Given the description of an element on the screen output the (x, y) to click on. 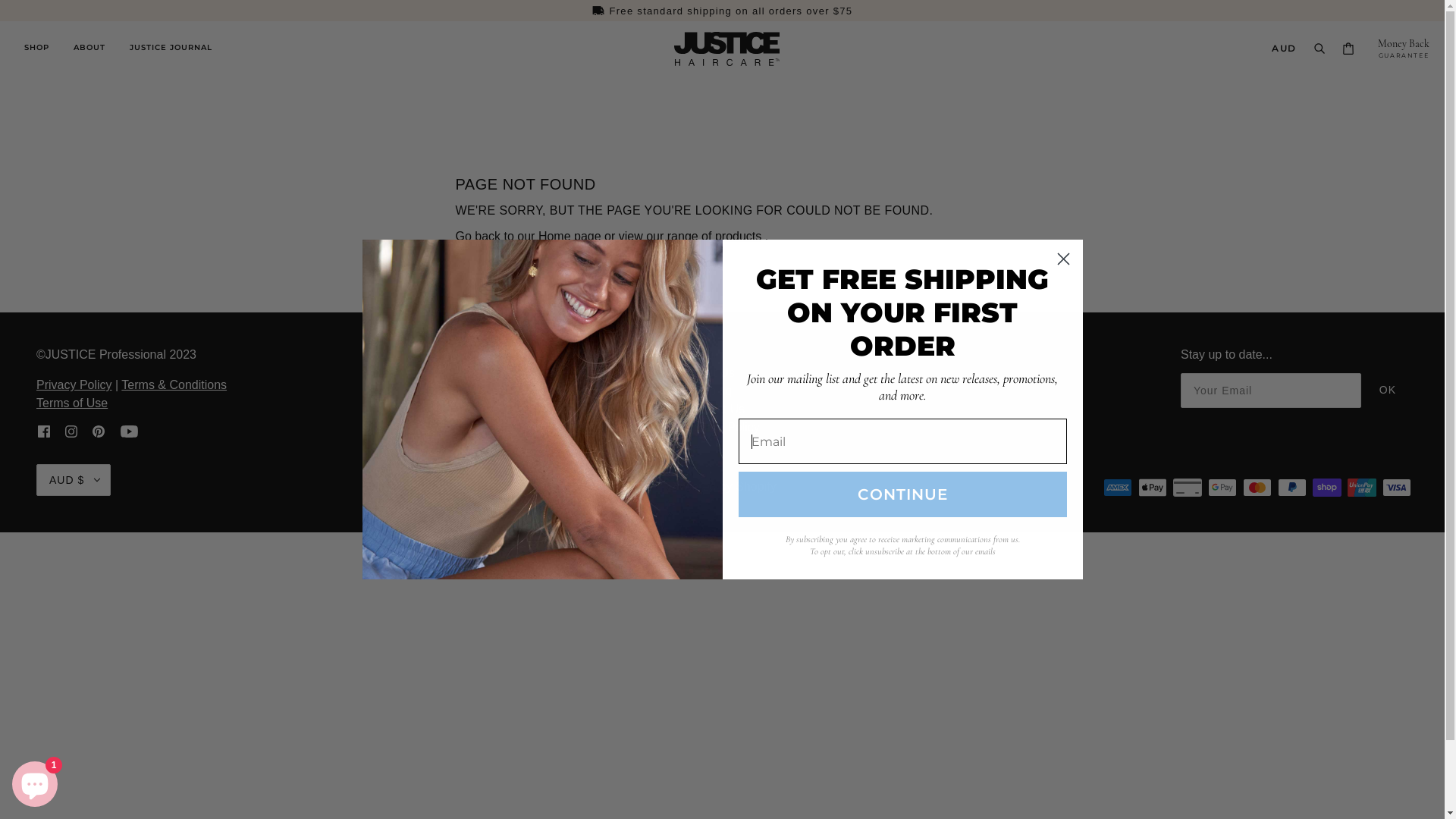
Ok Element type: text (1387, 390)
Powered by Shopify Element type: text (721, 486)
Refund Policy Element type: text (721, 426)
Shopify online store chat Element type: hover (34, 780)
Shop Element type: text (698, 354)
CONTINUE Element type: text (902, 494)
About Us Element type: text (709, 372)
products Element type: text (738, 235)
JUSTICE JOURNAL Element type: text (170, 48)
AUD Element type: text (1283, 48)
Terms of Use Element type: text (71, 402)
Submit Element type: text (34, 17)
Terms & Conditions Element type: text (173, 384)
SHOP Element type: text (36, 48)
Money Back Guarantee Element type: text (722, 10)
Home page Element type: text (569, 235)
Privacy Policy Element type: text (74, 384)
Close dialog 1 Element type: text (1062, 258)
Money Back
GUARANTEE Element type: text (1403, 48)
Shipping Element type: text (707, 390)
ABOUT Element type: text (89, 48)
Contact Us Element type: text (714, 408)
Justice Models with Great Hair Element type: hover (542, 409)
